Given the description of an element on the screen output the (x, y) to click on. 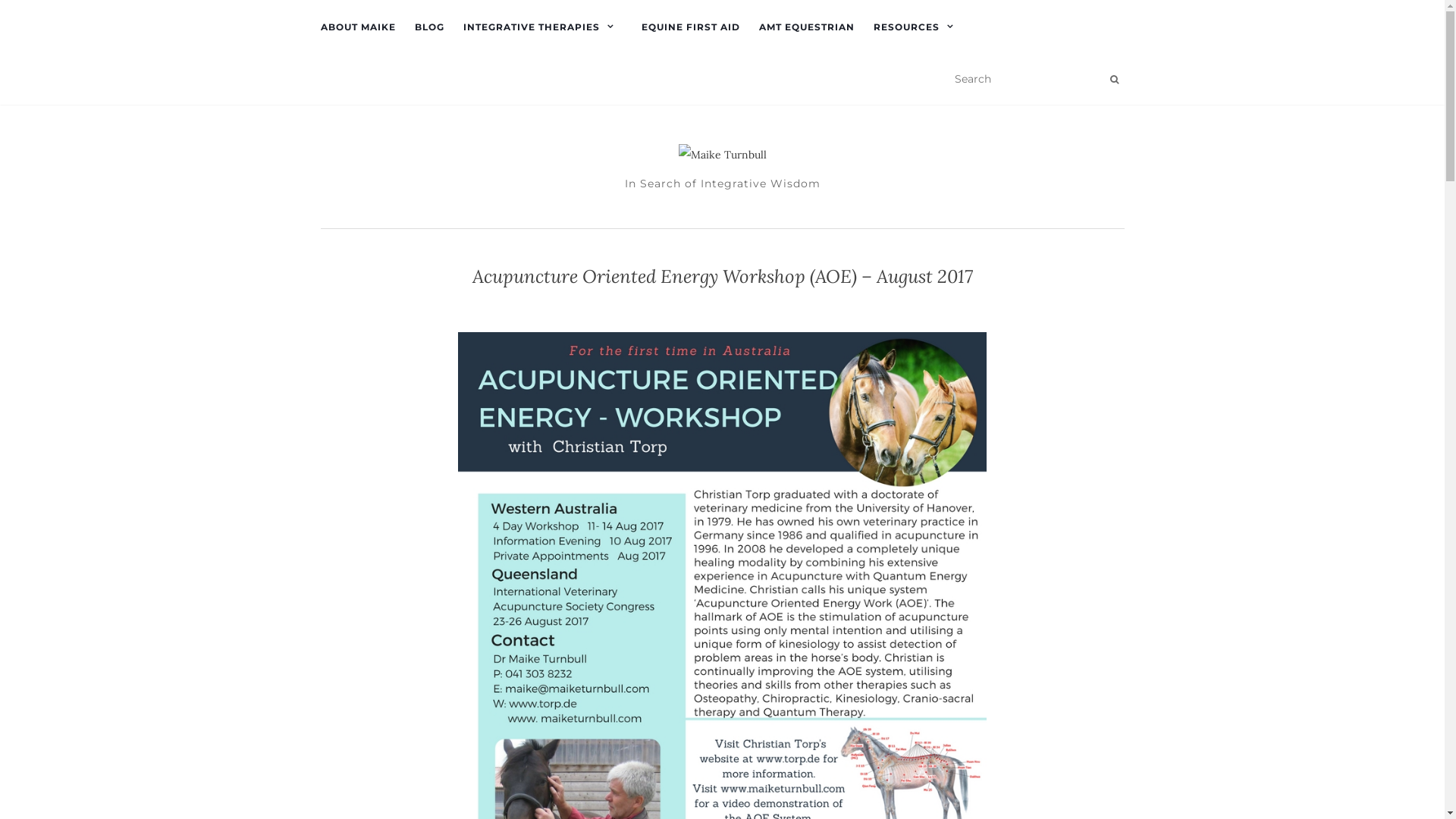
AMT EQUESTRIAN Element type: text (805, 26)
ABOUT MAIKE Element type: text (357, 26)
INTEGRATIVE THERAPIES Element type: text (541, 26)
Search Element type: text (1114, 79)
EQUINE FIRST AID Element type: text (690, 26)
BLOG Element type: text (428, 26)
RESOURCES Element type: text (917, 26)
